Given the description of an element on the screen output the (x, y) to click on. 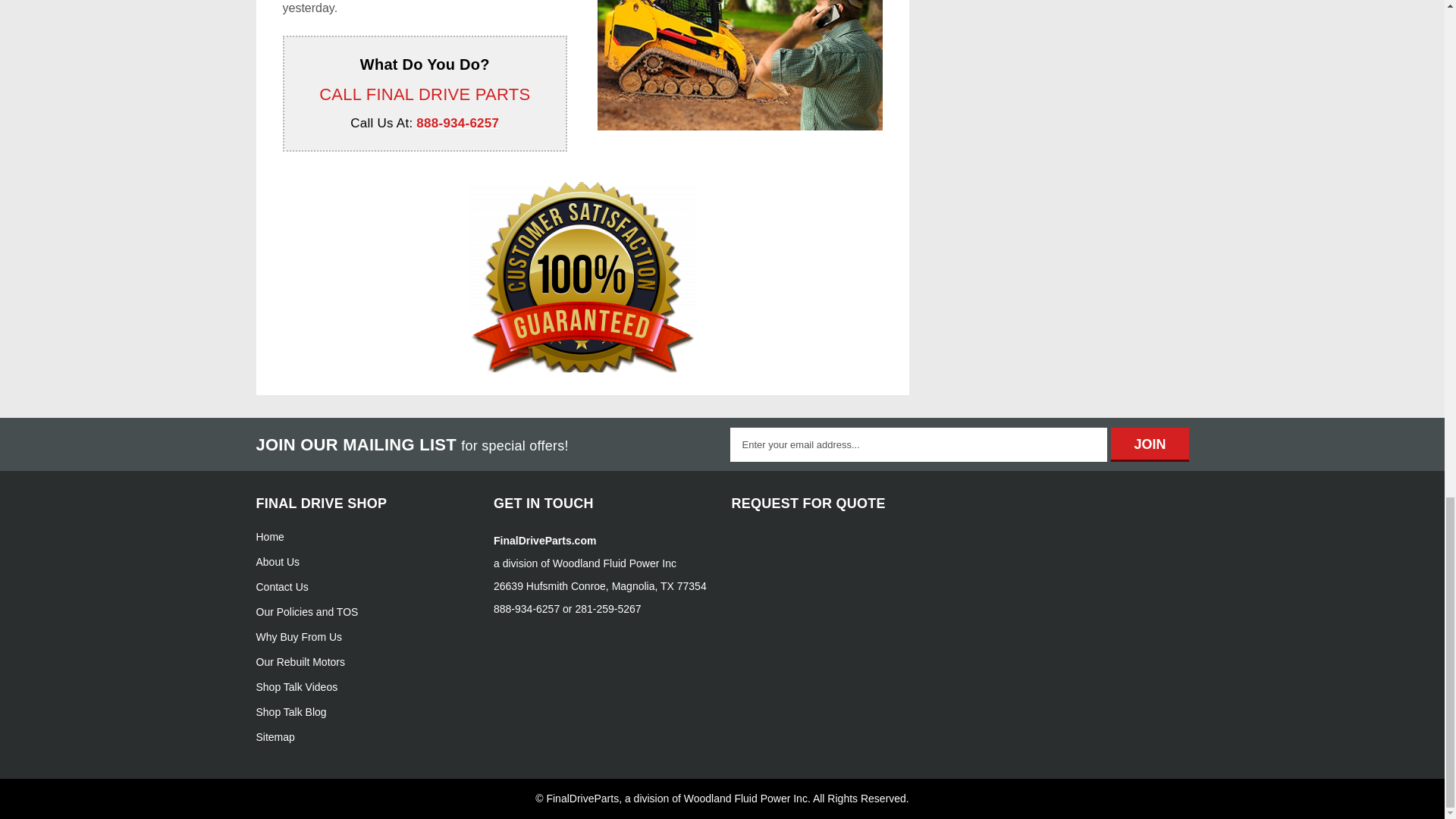
Call Us Now! (457, 123)
Join (1149, 444)
